Given the description of an element on the screen output the (x, y) to click on. 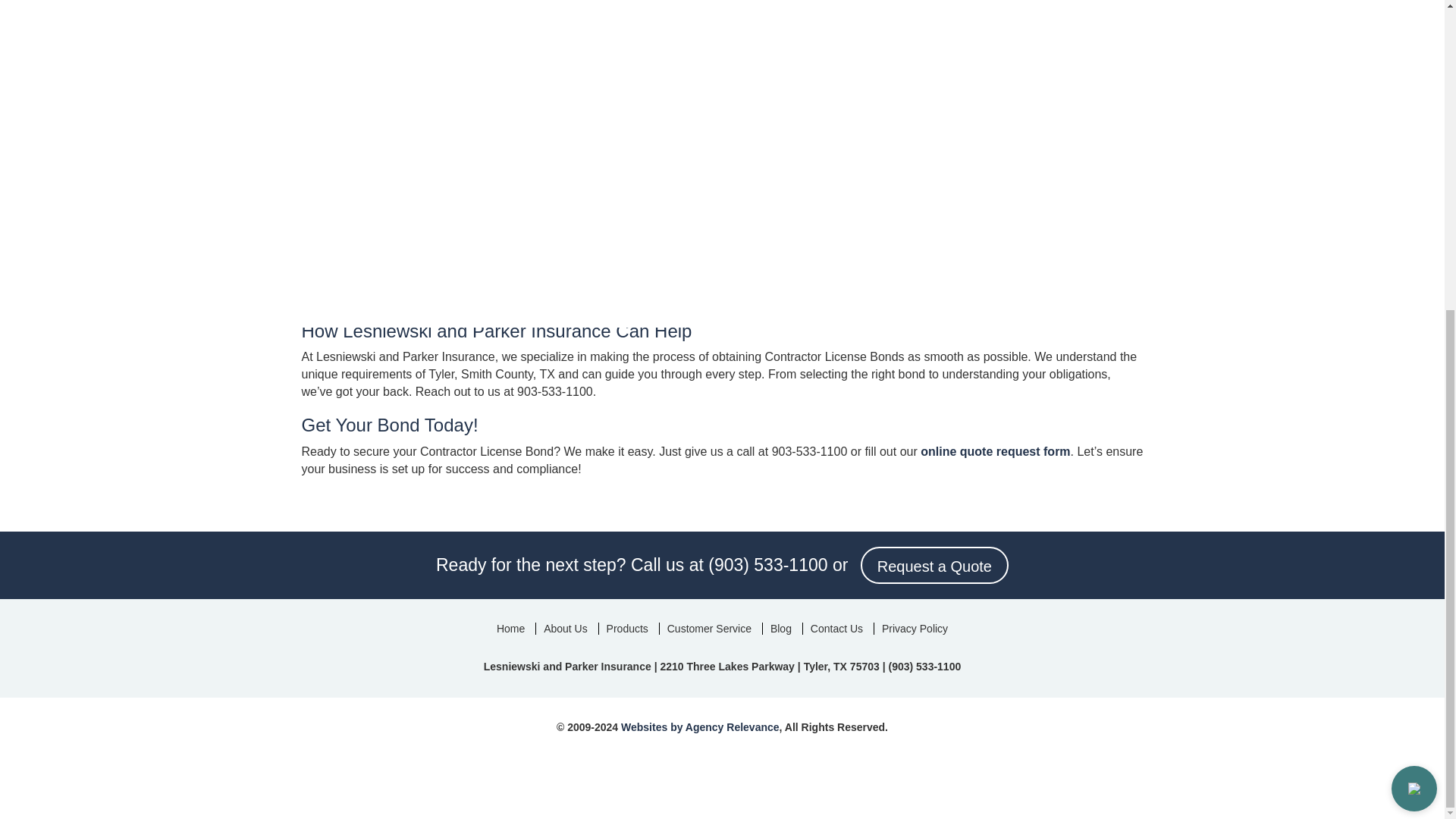
Contact Us (836, 628)
Websites by Agency Relevance (699, 727)
Request a Quote (934, 564)
Products (627, 628)
About Us (565, 628)
Blog (780, 628)
Privacy Policy (914, 628)
Home (510, 628)
online quote request form (995, 451)
Customer Service (708, 628)
